Given the description of an element on the screen output the (x, y) to click on. 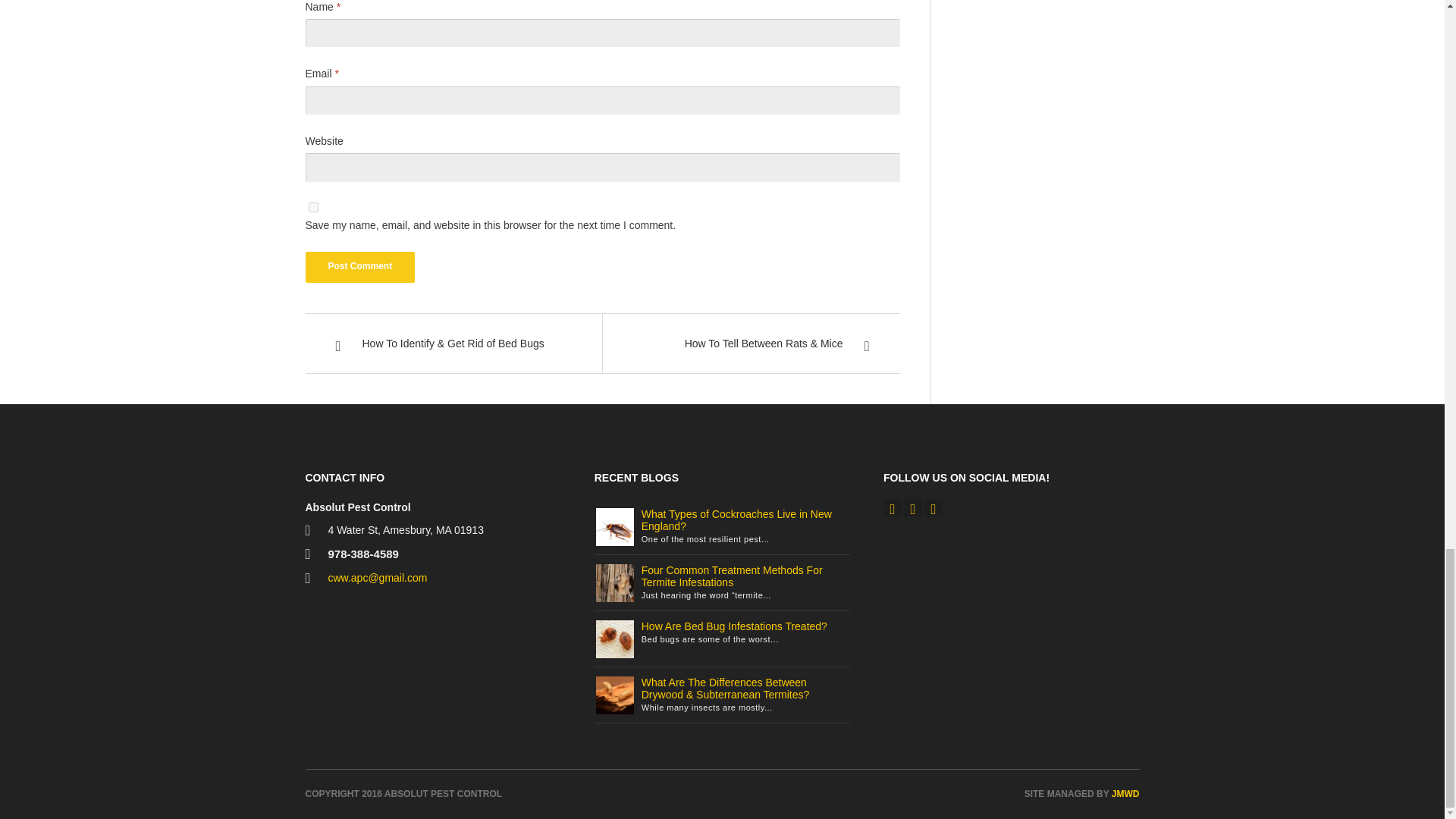
Four Common Treatment Methods For Termite Infestations (614, 582)
How Are Bed Bug Infestations Treated? (614, 638)
Post Comment (359, 266)
What Types of Cockroaches Live in New England? (736, 519)
What Types of Cockroaches Live in New England? (614, 526)
yes (312, 207)
How Are Bed Bug Infestations Treated? (734, 625)
Four Common Treatment Methods For Termite Infestations (732, 576)
